Given the description of an element on the screen output the (x, y) to click on. 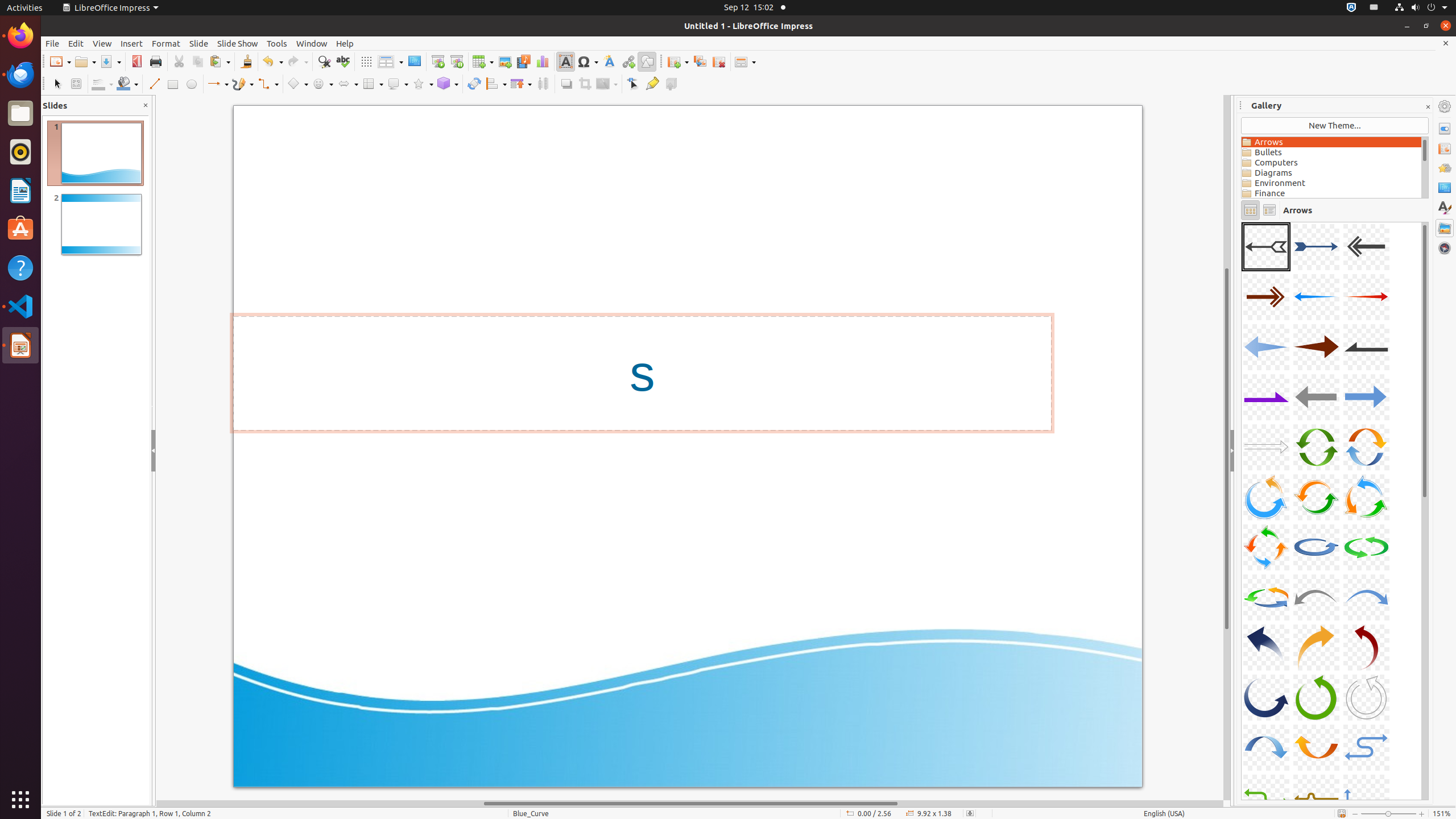
Rectangle Element type: push-button (172, 83)
Display Views Element type: push-button (389, 61)
PDF Element type: push-button (136, 61)
Chart Element type: push-button (541, 61)
Zoom & Pan Element type: push-button (75, 83)
